Given the description of an element on the screen output the (x, y) to click on. 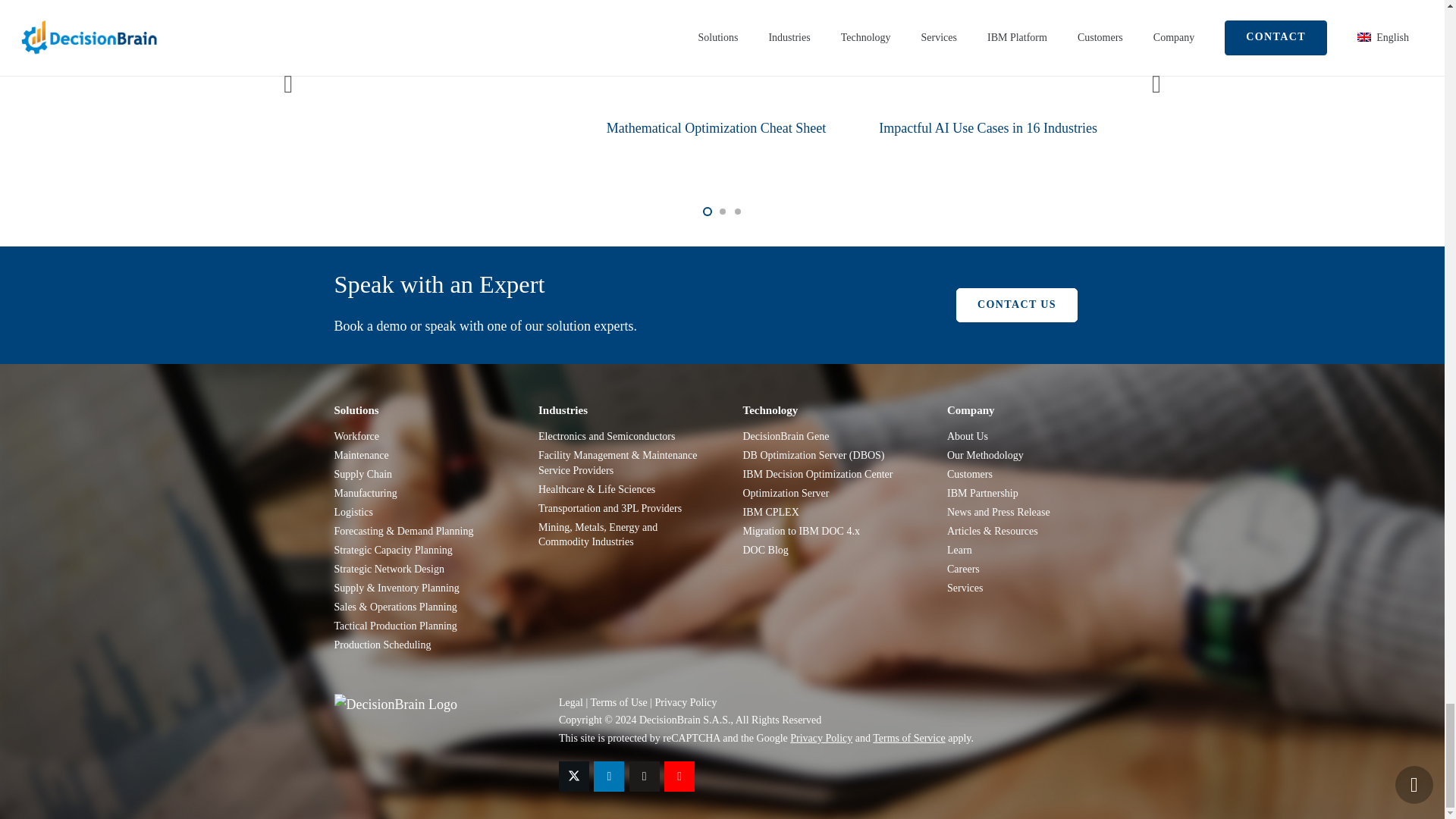
Medium (643, 776)
Twitter (574, 776)
LinkedIn (609, 776)
YouTube (678, 776)
